Given the description of an element on the screen output the (x, y) to click on. 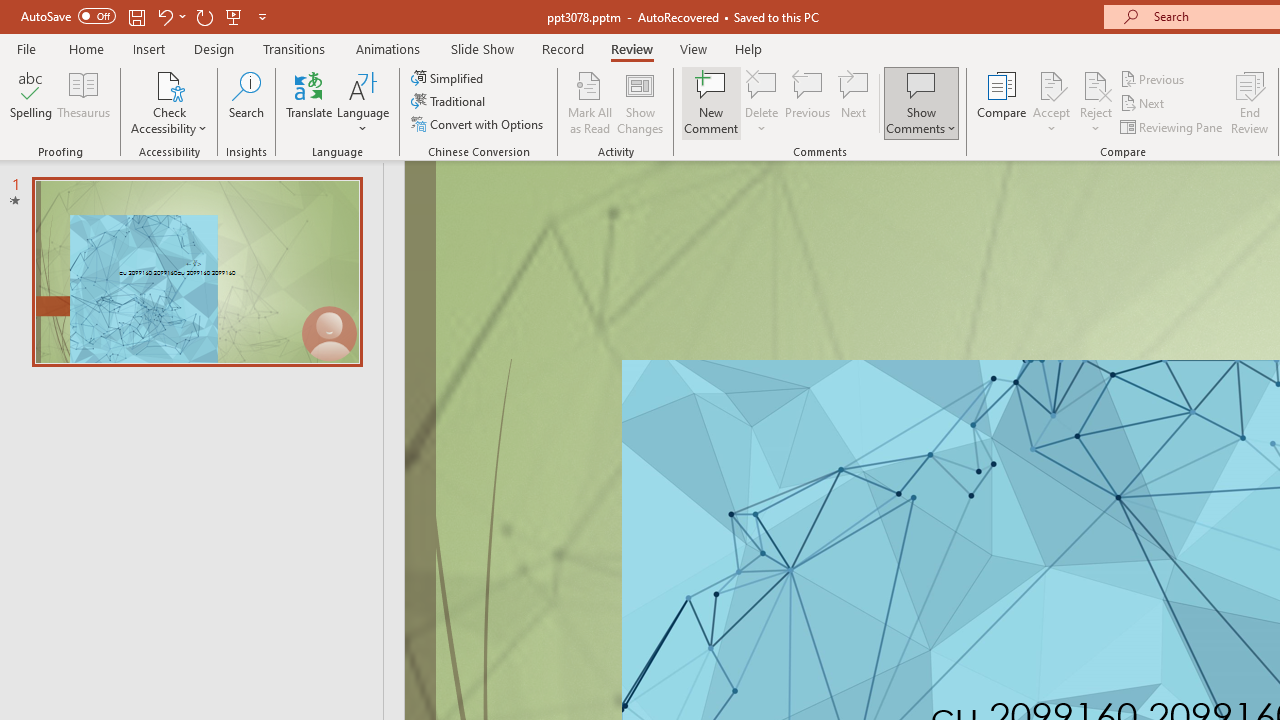
Reject Change (1096, 84)
Show Changes (639, 102)
Language (363, 102)
Next (1144, 103)
